Given the description of an element on the screen output the (x, y) to click on. 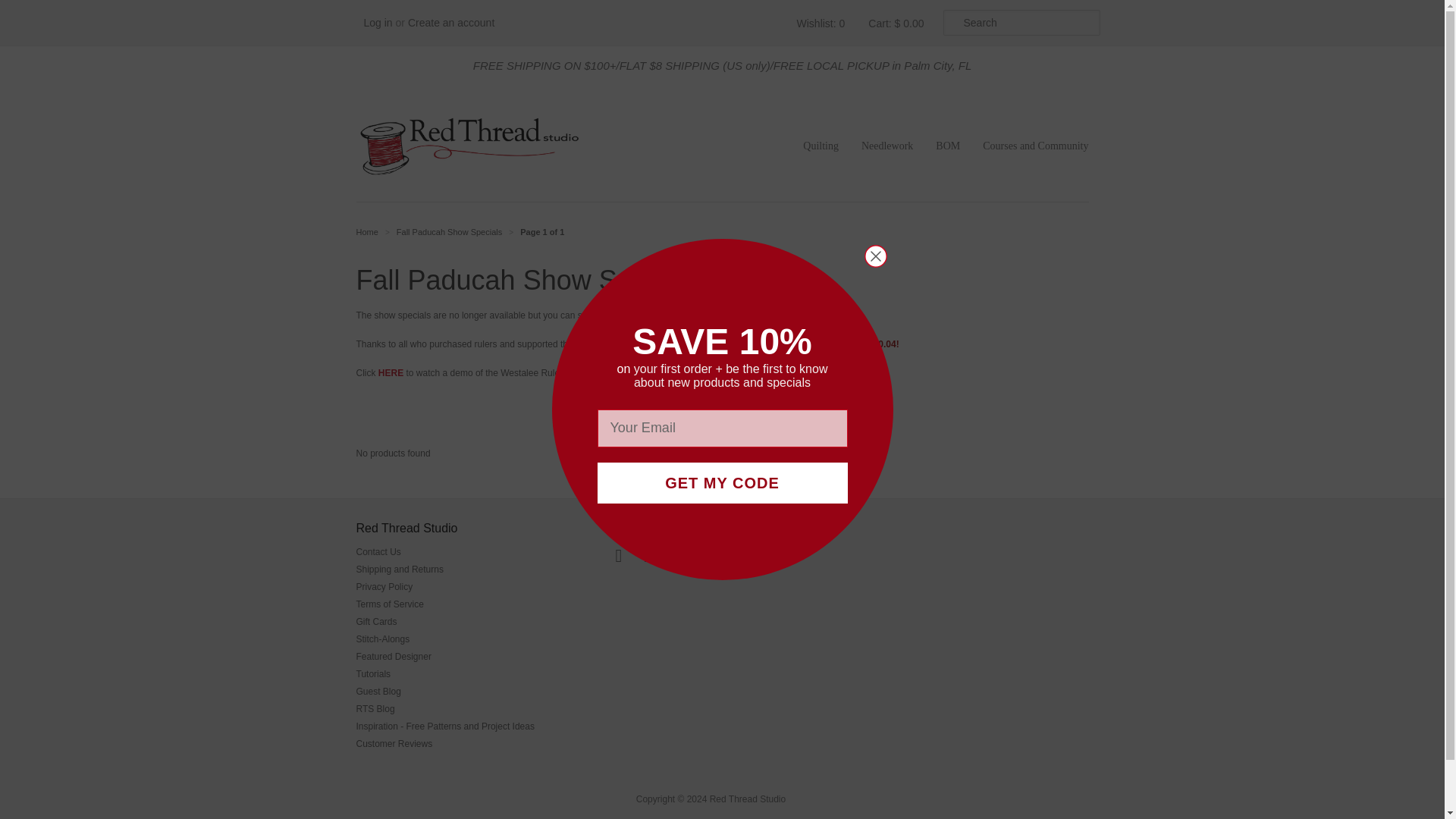
Customer Reviews (394, 743)
Red Thread Studio (367, 231)
Contact Us (378, 552)
Create an account (451, 22)
RTS Blog (375, 708)
Tutorials (373, 674)
Guest Blog (378, 691)
Close dialog 1 (875, 255)
Log in (378, 22)
Privacy Policy (384, 586)
Shipping and Returns (400, 569)
Terms of Service (389, 603)
Featured Designer (393, 656)
Inspiration - Free Patterns and Project Ideas (445, 726)
Wishlist: 0 (818, 23)
